Given the description of an element on the screen output the (x, y) to click on. 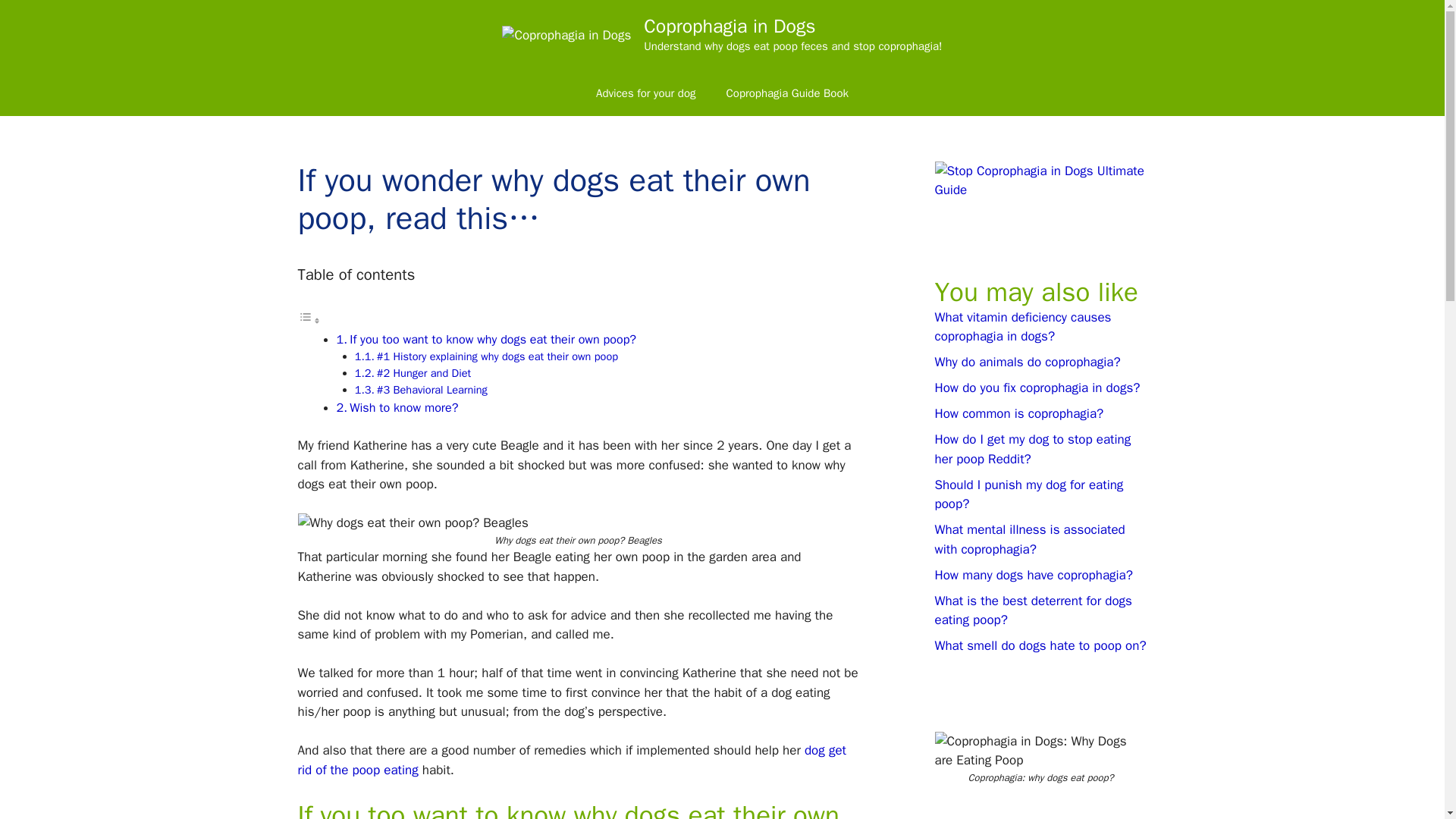
Advices for your dog (645, 92)
Coprophagia Guide Book (787, 92)
How do you fix coprophagia in dogs? (1037, 387)
How do I get my dog to stop eating her poop Reddit? (1032, 448)
Wish to know more? (403, 407)
Wish to know more? (403, 407)
Coprophagia in Dogs (729, 25)
If you too want to know why dogs eat their own poop? (492, 339)
What smell do dogs hate to poop on? (1039, 645)
What mental illness is associated with coprophagia? (1029, 539)
